Given the description of an element on the screen output the (x, y) to click on. 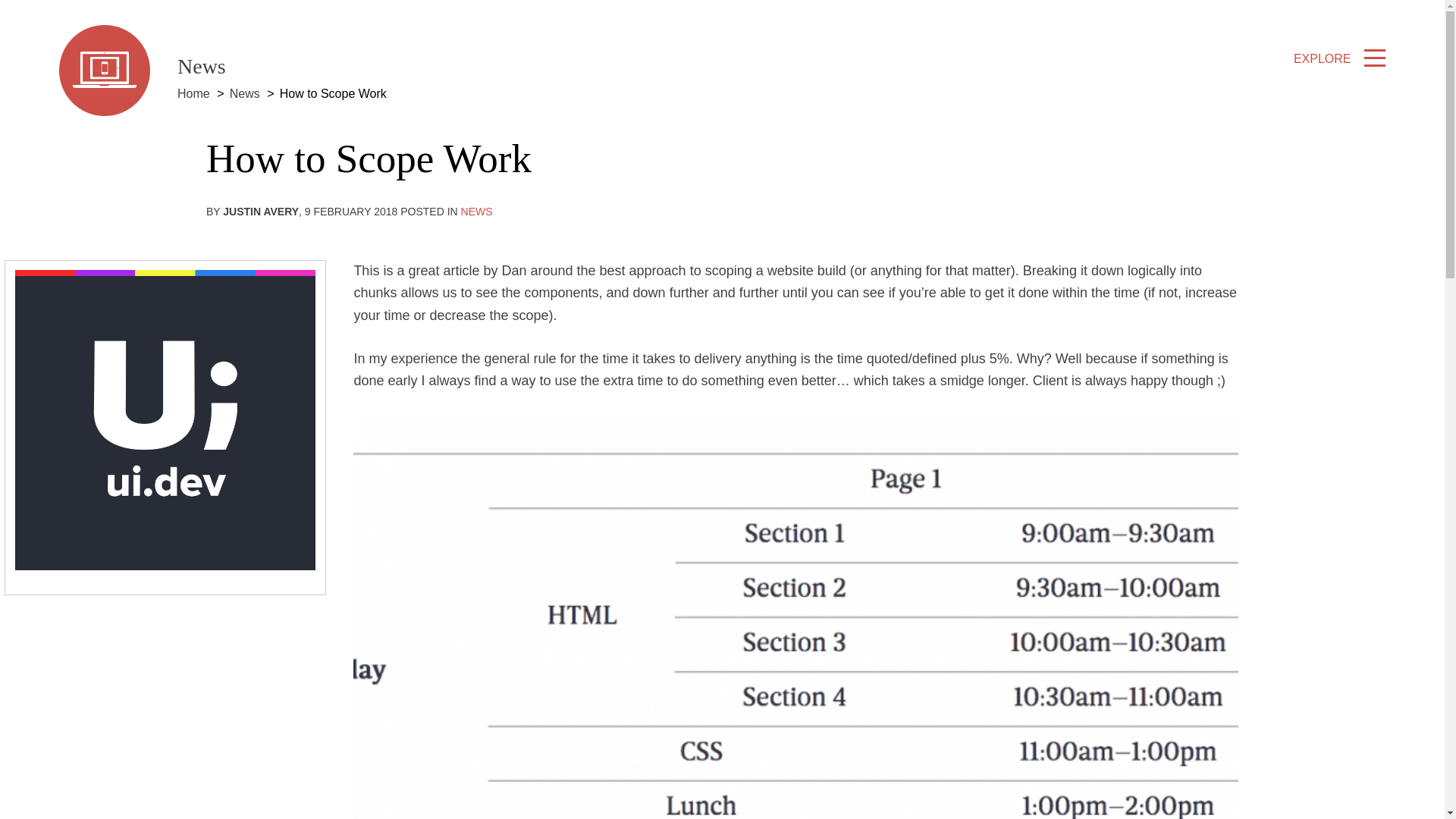
NEWS (477, 211)
News (245, 94)
Home (193, 94)
